Given the description of an element on the screen output the (x, y) to click on. 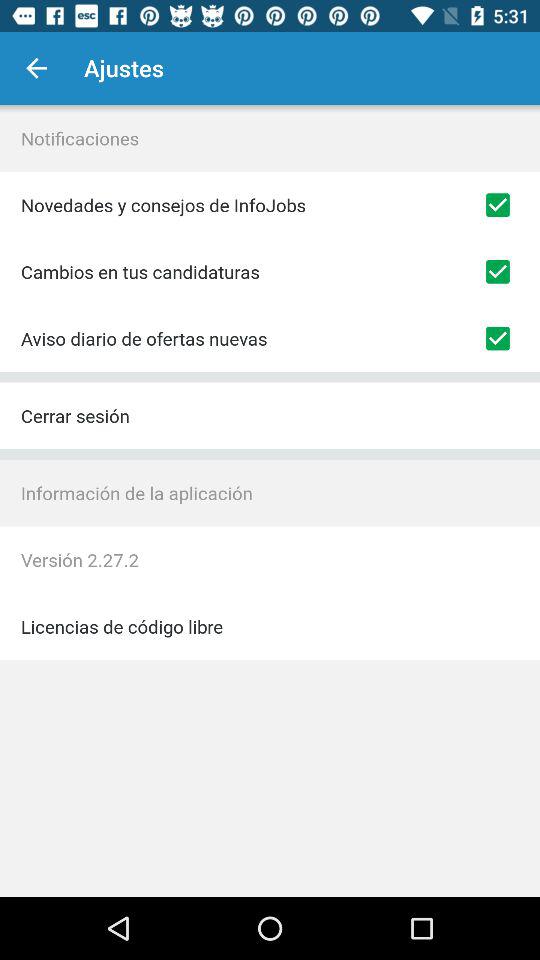
toggle notification of new job offers (498, 338)
